Given the description of an element on the screen output the (x, y) to click on. 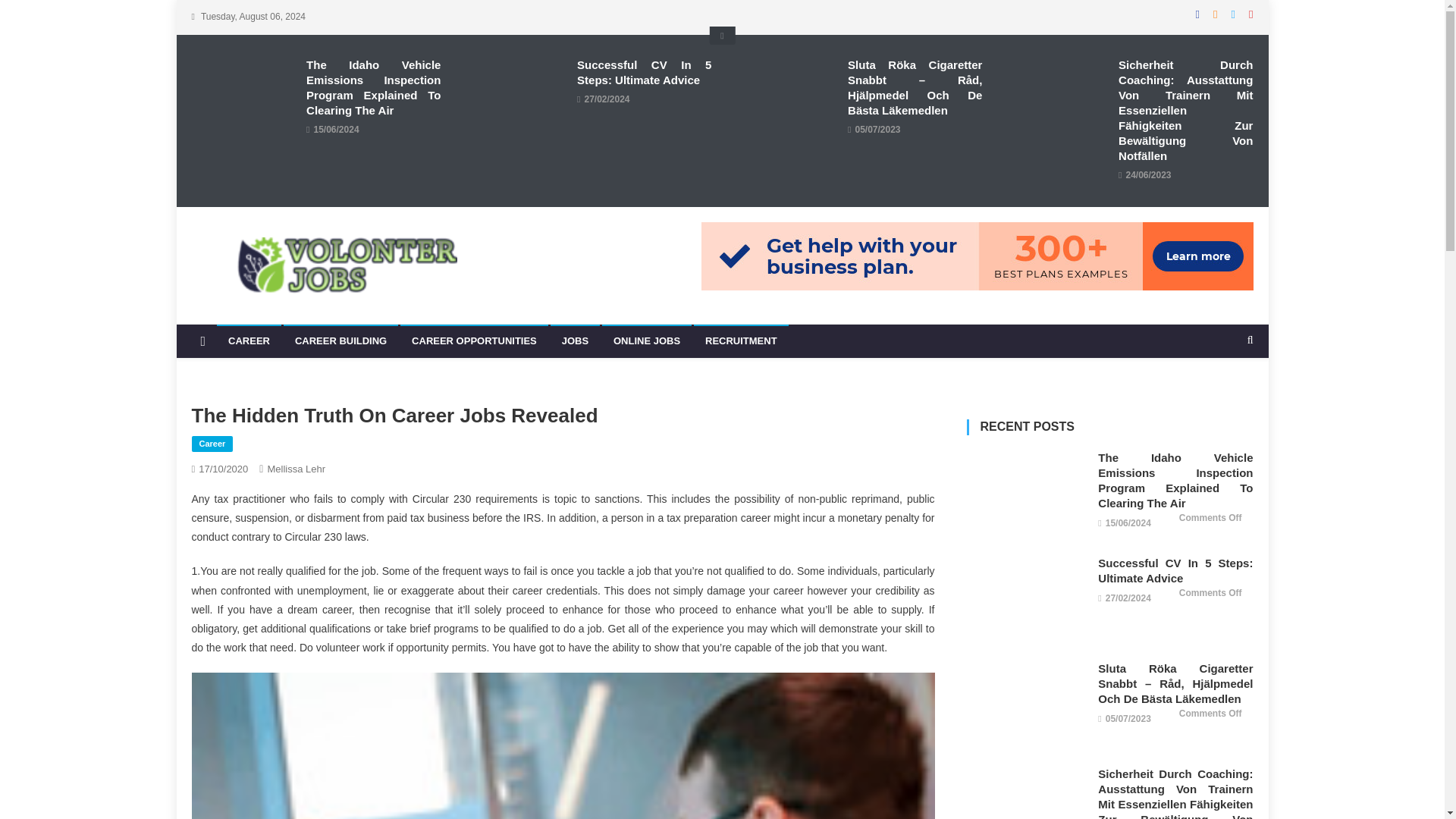
CAREER OPPORTUNITIES (474, 340)
Successful CV In 5 Steps: Ultimate Advice (643, 72)
ONLINE JOBS (646, 340)
The Hidden Truth on Career Jobs Revealed (562, 745)
JOBS (574, 340)
Successful CV in 5 Steps: Ultimate Advice (1026, 601)
Feature Posts (722, 35)
Successful CV in 5 Steps: Ultimate Advice (515, 96)
Mellissa Lehr (295, 469)
